Given the description of an element on the screen output the (x, y) to click on. 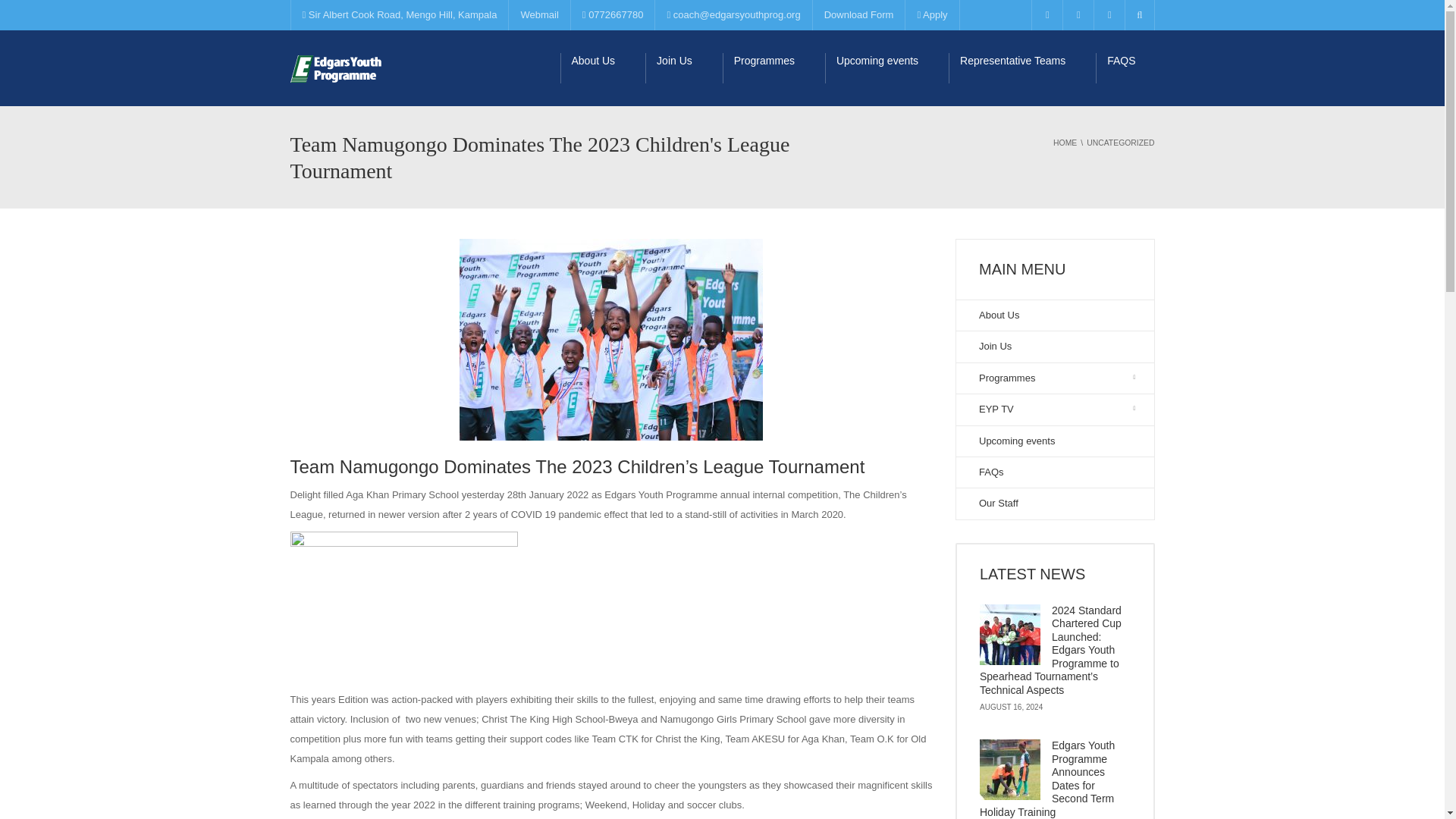
Programmes (773, 68)
Join Us (683, 68)
0772667780 (612, 15)
Webmail (538, 15)
Apply (931, 15)
Sir Albert Cook Road, Mengo Hill, Kampala (398, 15)
Representative Teams (1022, 68)
HOME (1064, 142)
Download Form (858, 15)
UNCATEGORIZED (1120, 142)
